Given the description of an element on the screen output the (x, y) to click on. 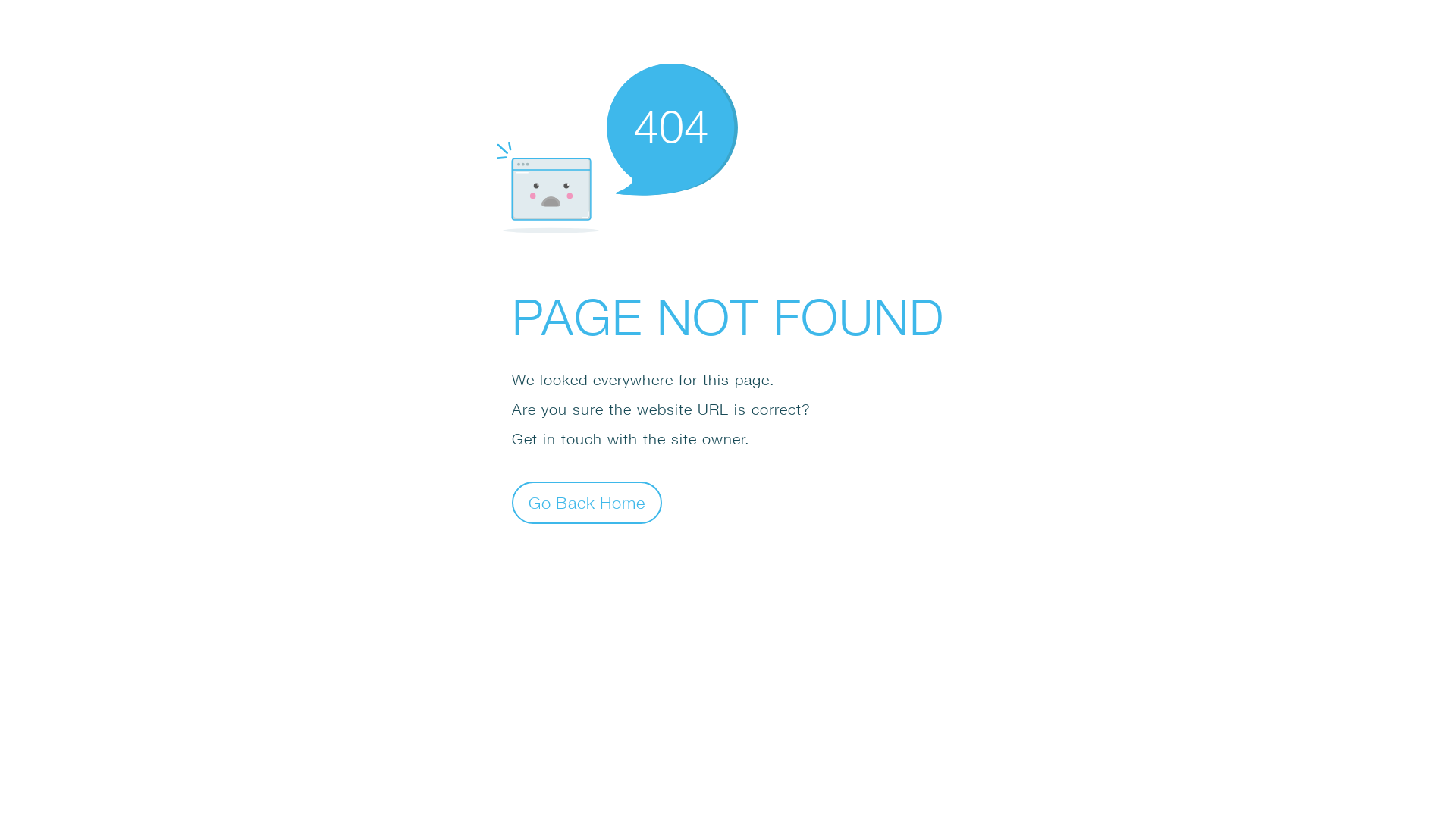
Go Back Home Element type: text (586, 502)
